Given the description of an element on the screen output the (x, y) to click on. 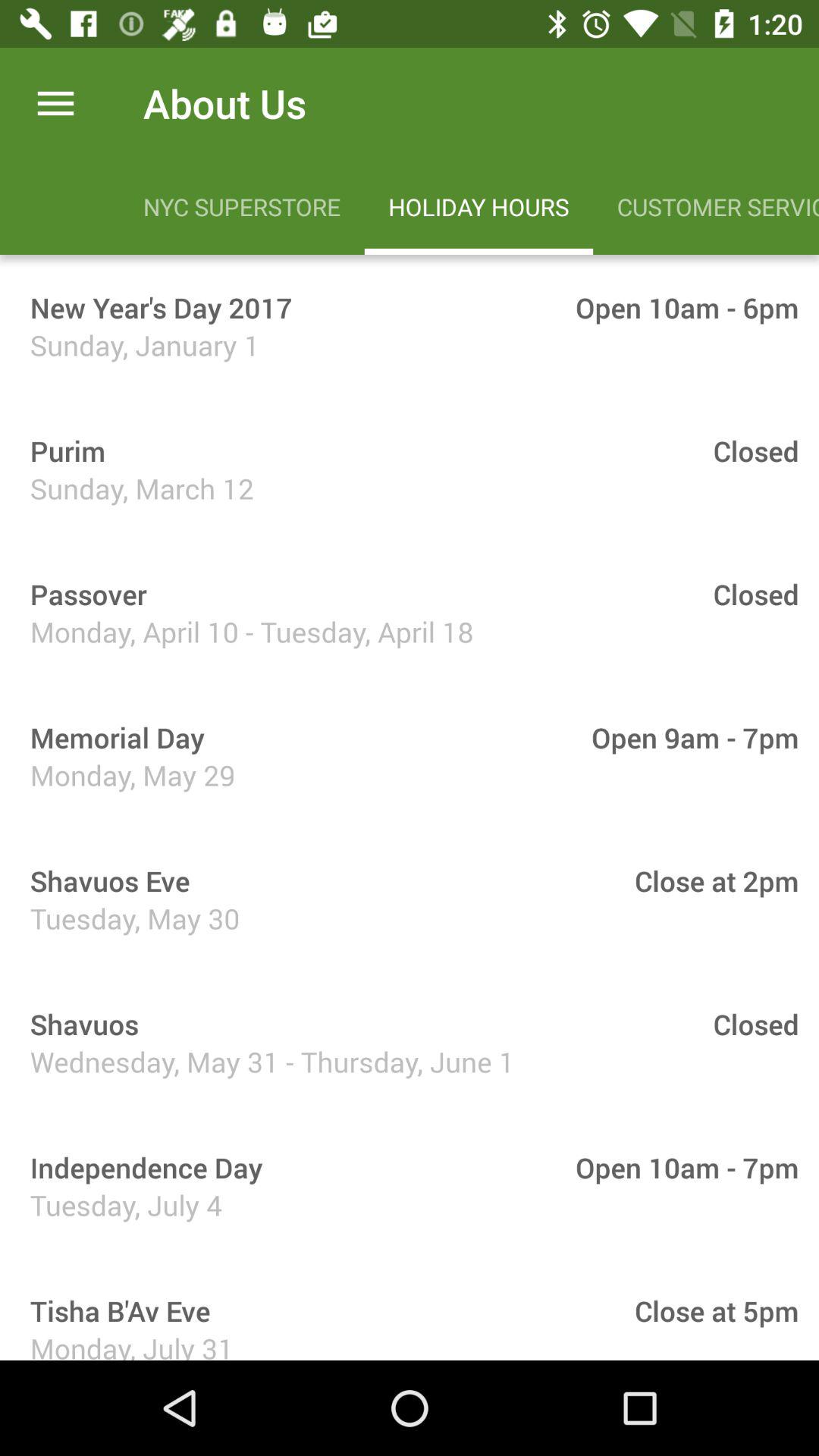
launch the passover (82, 594)
